Given the description of an element on the screen output the (x, y) to click on. 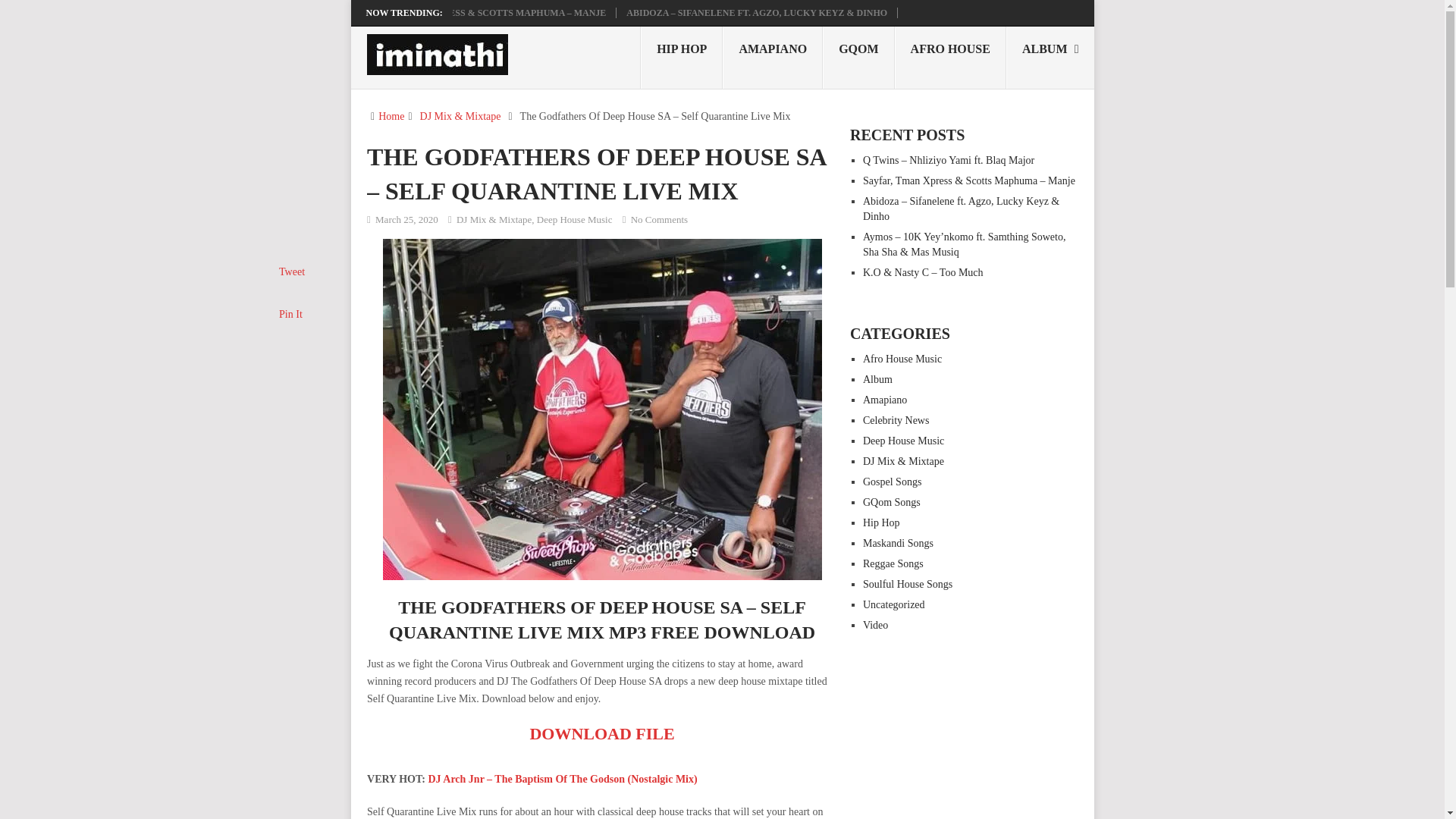
HIP HOP (681, 57)
Tweet (291, 271)
Home (391, 116)
Deep House Music (574, 219)
AFRO HOUSE (950, 57)
SA Hip Hop (681, 57)
Pin It (290, 314)
GQOM (857, 57)
AMAPIANO (772, 57)
amapiano songs (772, 57)
